Given the description of an element on the screen output the (x, y) to click on. 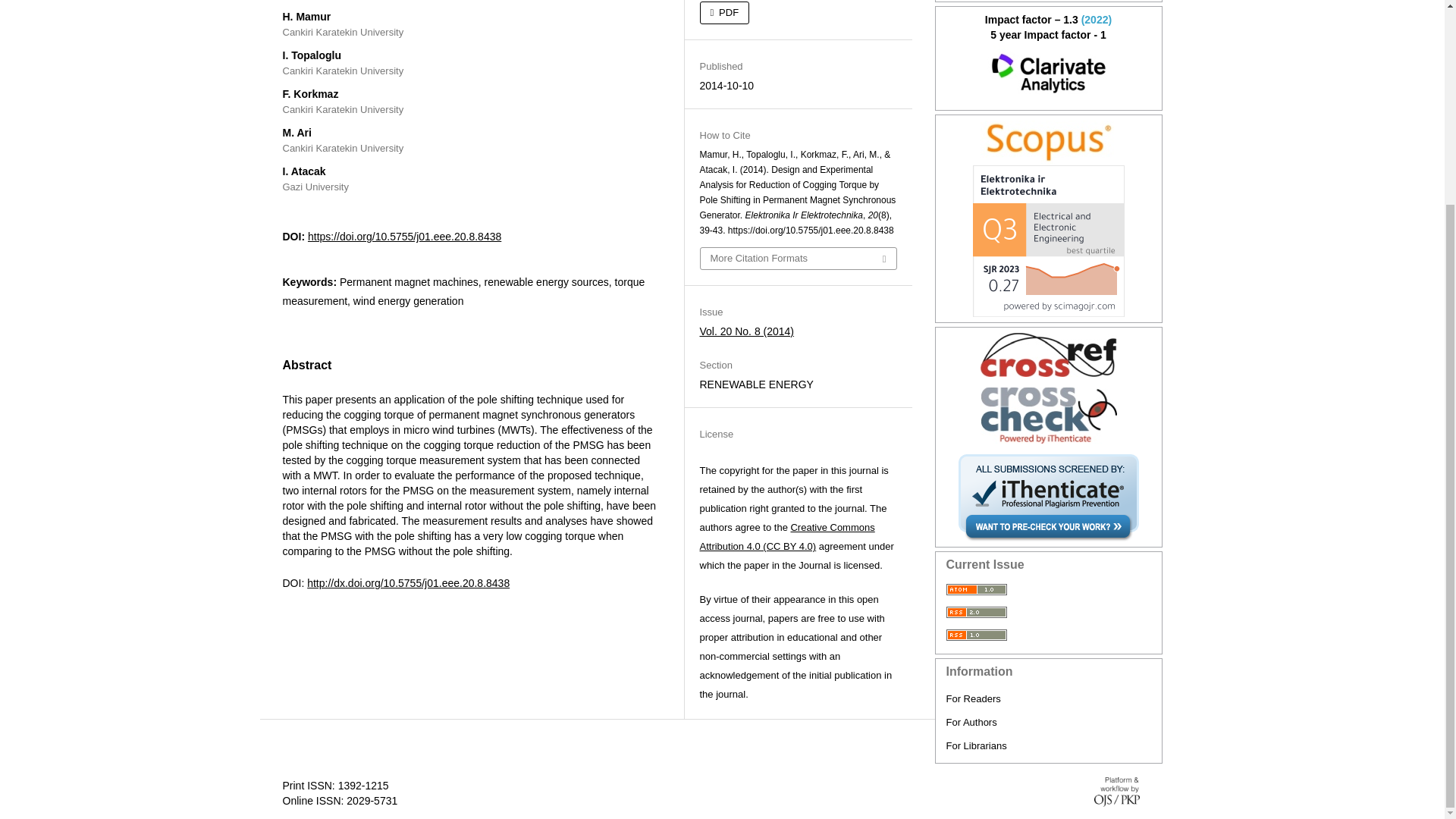
More Citation Formats (798, 258)
Journal: Elektronika Ir Elektrotechnika (1048, 142)
PDF (723, 12)
Journal: Elektronika Ir Elektrotechnika (1048, 73)
